Given the description of an element on the screen output the (x, y) to click on. 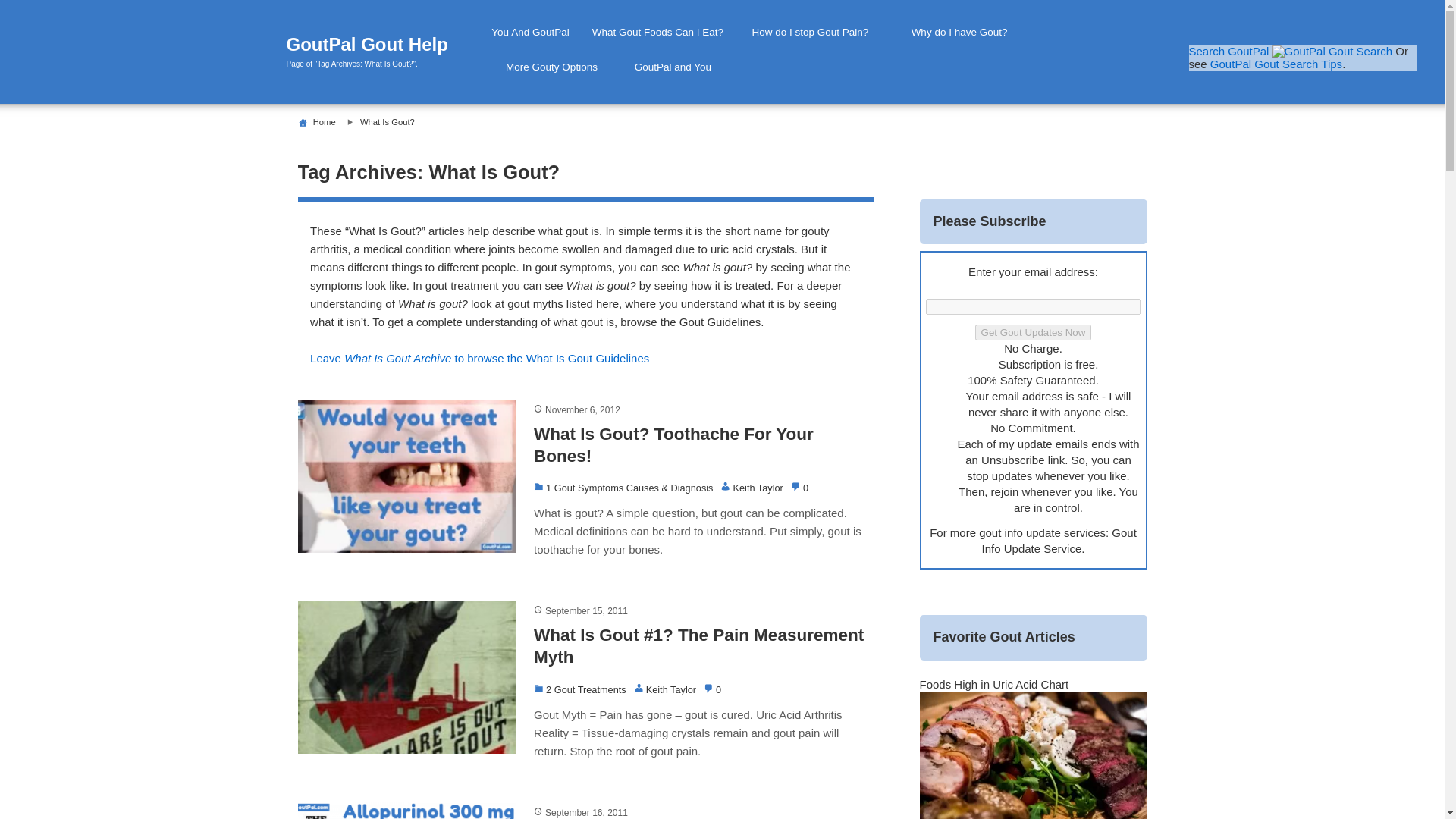
     Why do I have Gout?      (958, 32)
What Is Gout? (386, 121)
Foods High in Uric Acid Chart (993, 684)
Get Gout Updates Now (1033, 332)
What Is Gout? (479, 358)
GoutPal Gout Help (383, 44)
  How do I stop Gout Pain?   (810, 32)
Get Gout Updates Now (1033, 332)
Home (324, 121)
